Given the description of an element on the screen output the (x, y) to click on. 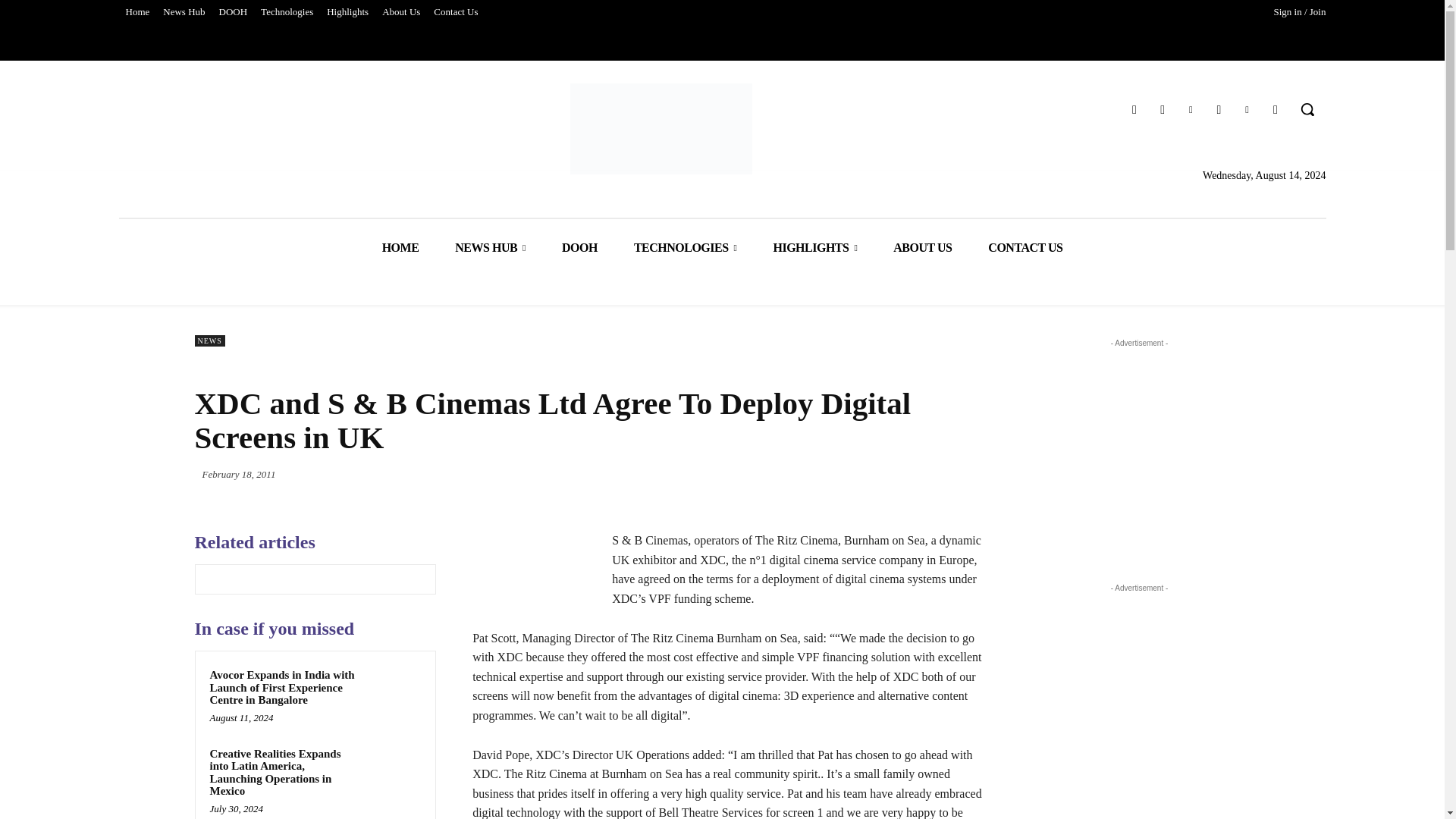
Google News (1275, 109)
Instagram (1218, 109)
Highlights (347, 12)
Linkedin (1246, 109)
About Us (400, 12)
Pinterest (1190, 109)
Technologies (286, 12)
Home (136, 12)
News Hub (183, 12)
DOOH (233, 12)
